Given the description of an element on the screen output the (x, y) to click on. 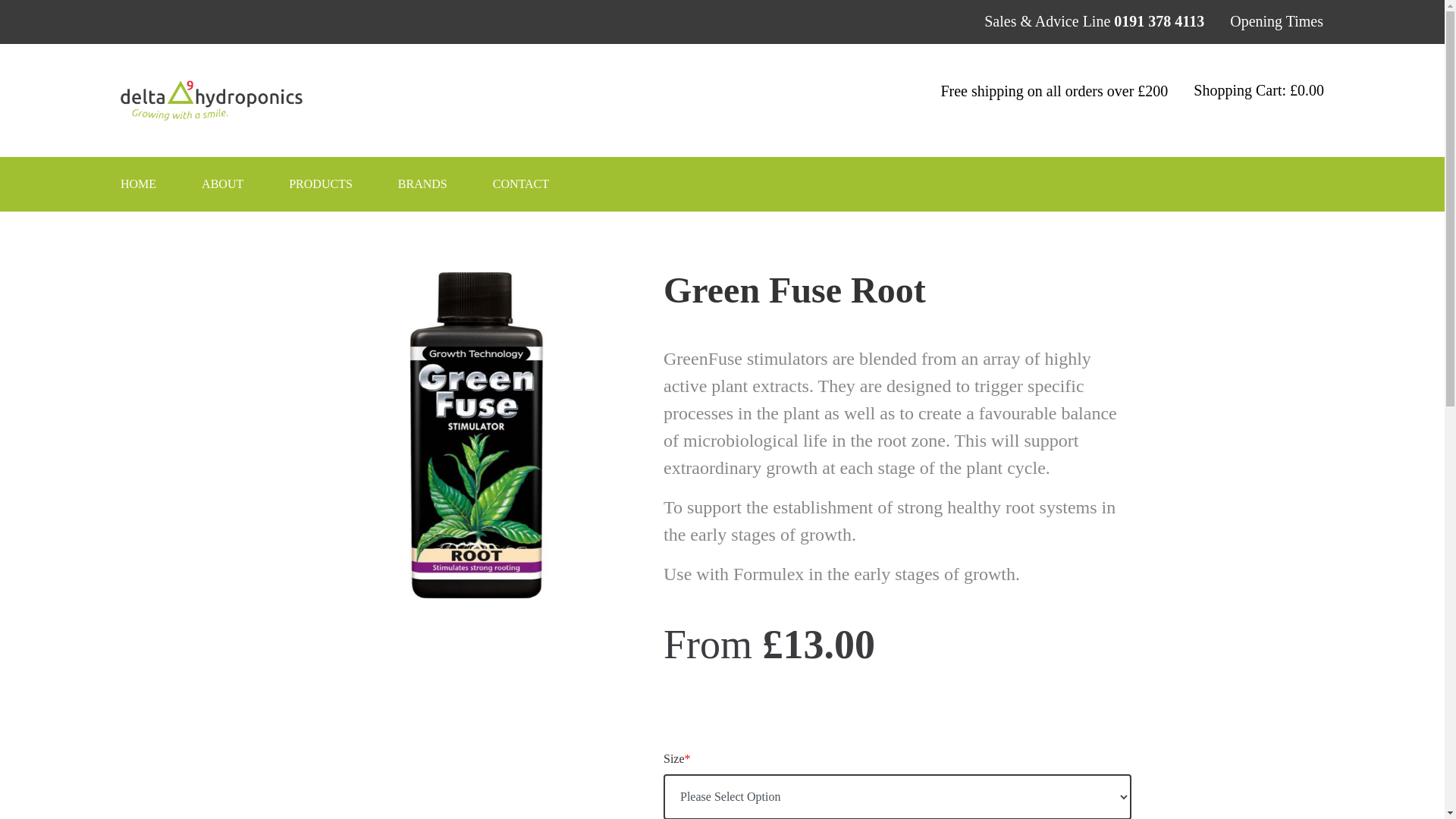
Opening Times (1276, 21)
HOME (161, 183)
ABOUT (245, 183)
PRODUCTS (342, 183)
BRANDS (445, 183)
CONTACT (543, 183)
